Given the description of an element on the screen output the (x, y) to click on. 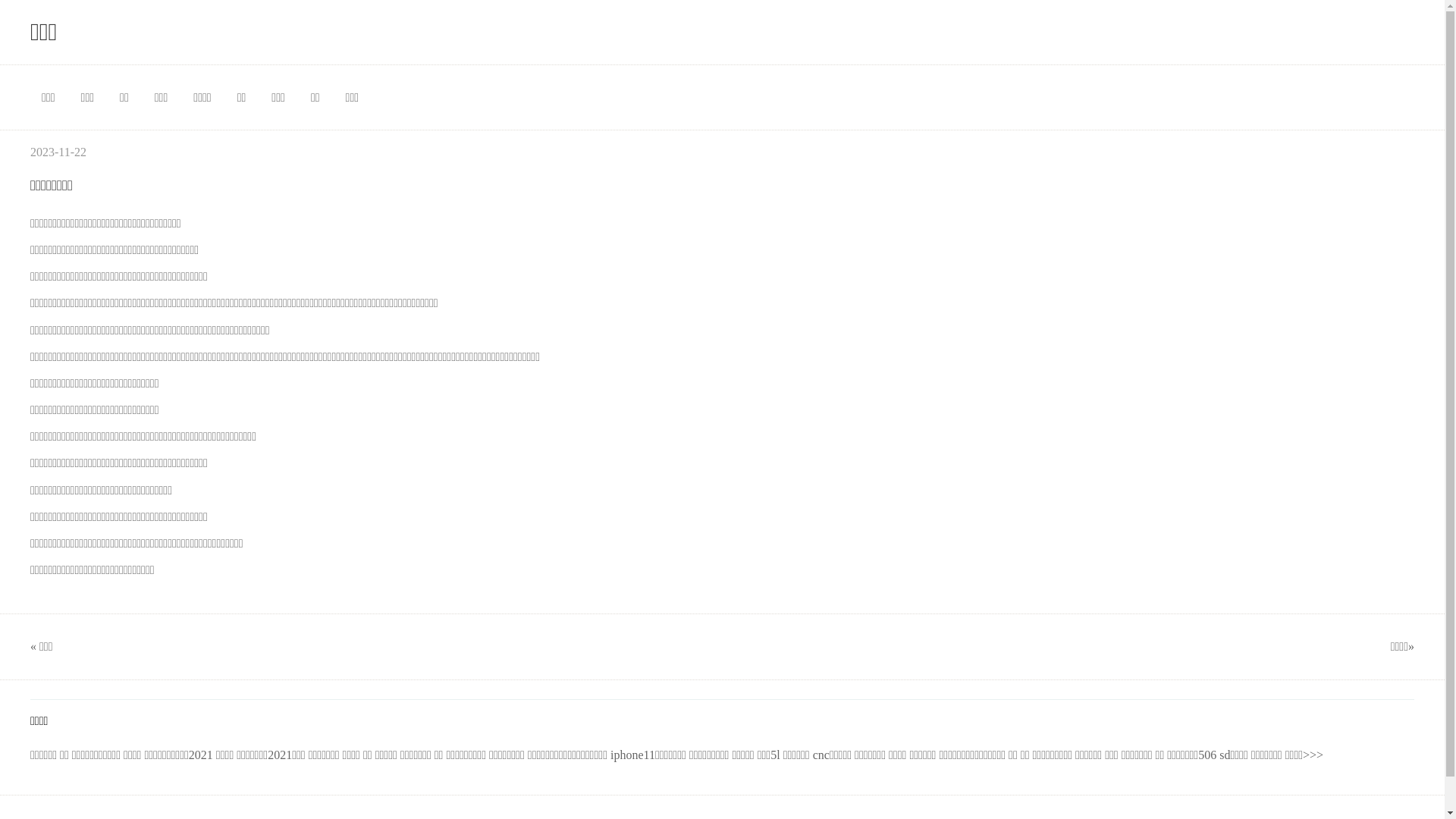
2023-11-22 Element type: text (58, 151)
